Given the description of an element on the screen output the (x, y) to click on. 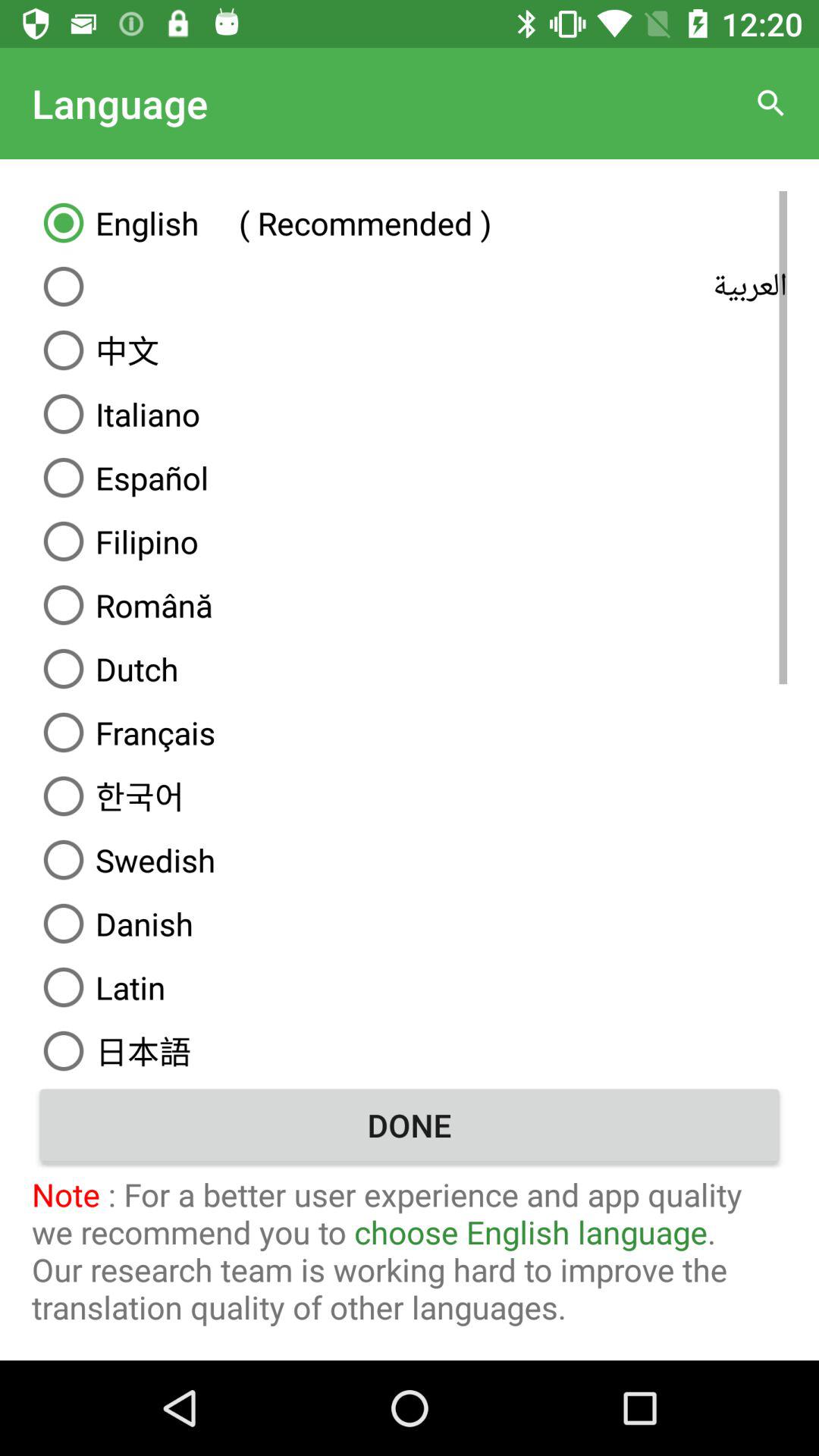
click the icon below italiano item (409, 477)
